Given the description of an element on the screen output the (x, y) to click on. 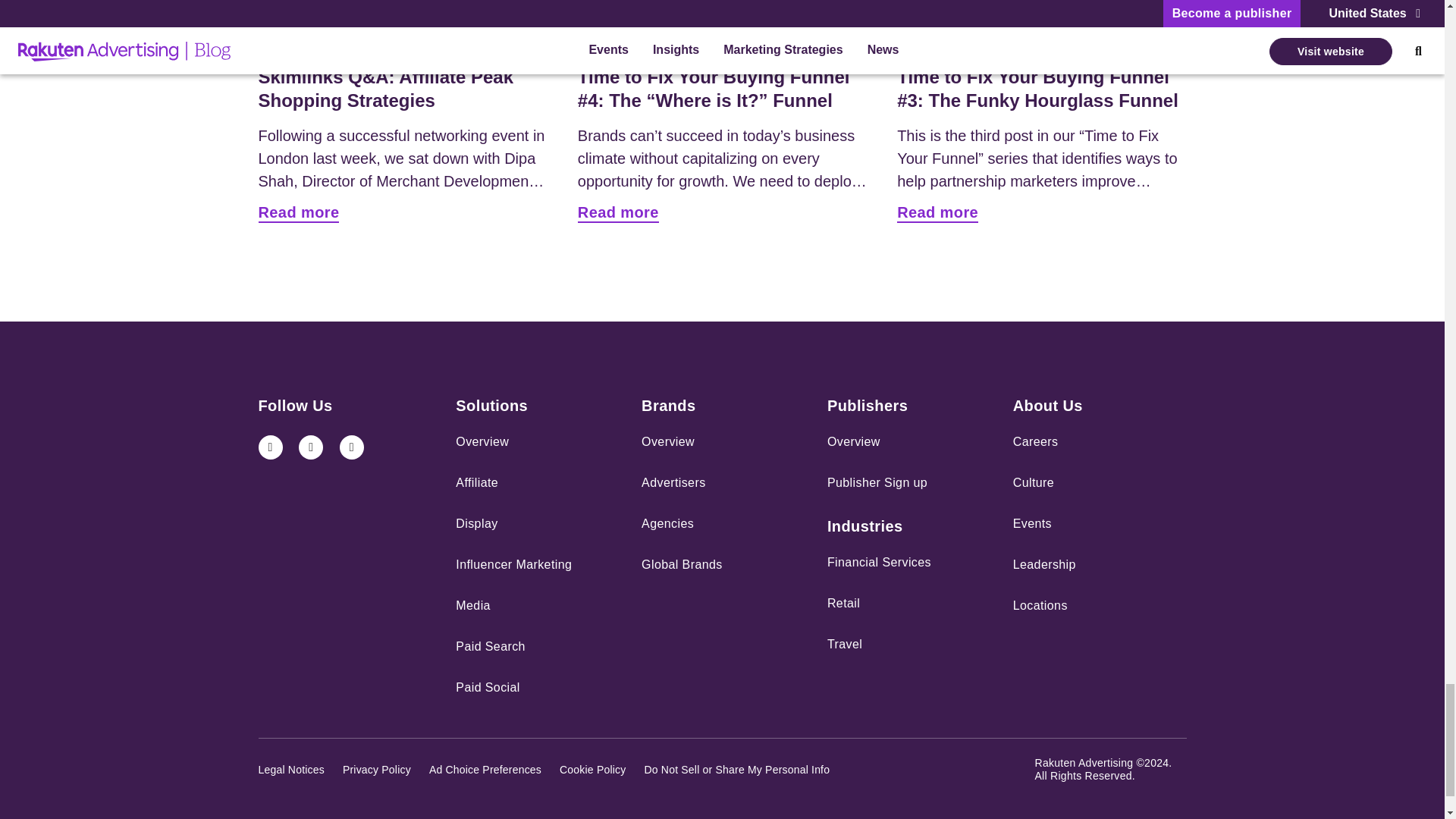
MARKETING STRATEGIES (975, 46)
Visit us on Facebook (351, 446)
Solutions (491, 406)
Visit us on Twitter (310, 446)
MARKETING STRATEGIES (336, 46)
MARKETING STRATEGIES (657, 46)
Visit us on LinkedIn (269, 446)
